Given the description of an element on the screen output the (x, y) to click on. 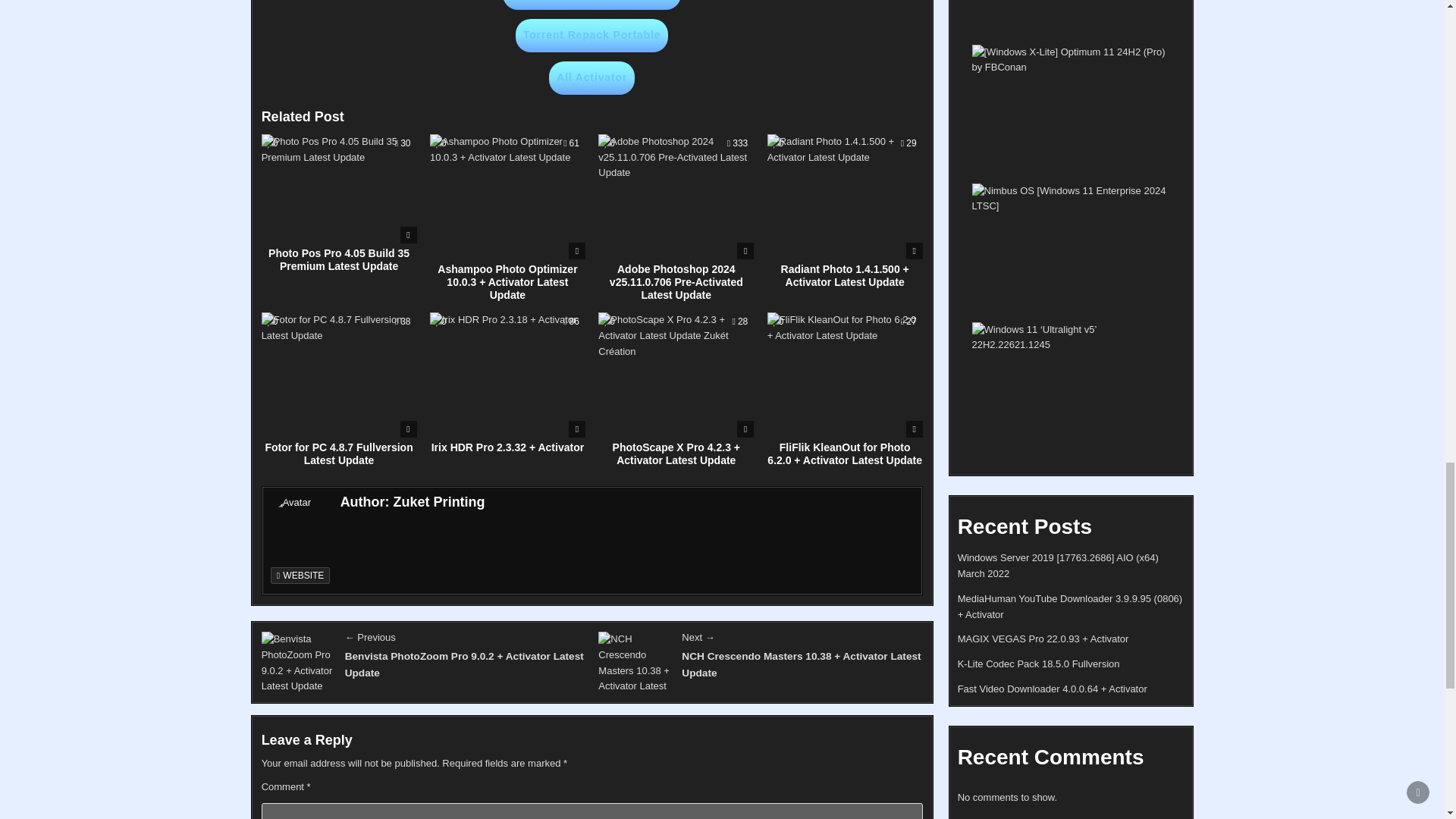
Like this (272, 143)
30 Views (402, 143)
